Given the description of an element on the screen output the (x, y) to click on. 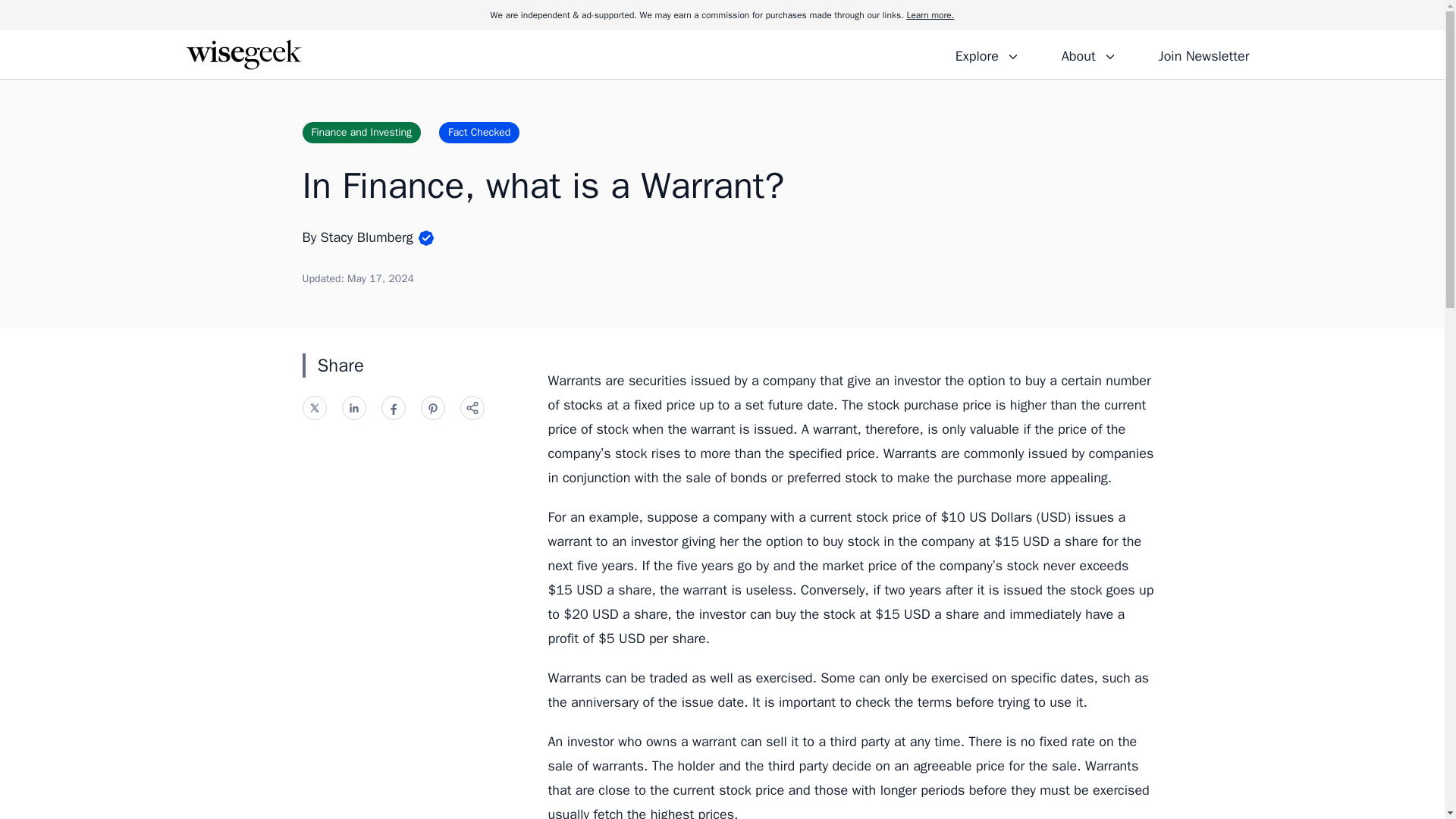
Learn more. (929, 15)
Finance and Investing (360, 132)
Join Newsletter (1202, 54)
Fact Checked (479, 132)
About (1088, 54)
Explore (986, 54)
